Given the description of an element on the screen output the (x, y) to click on. 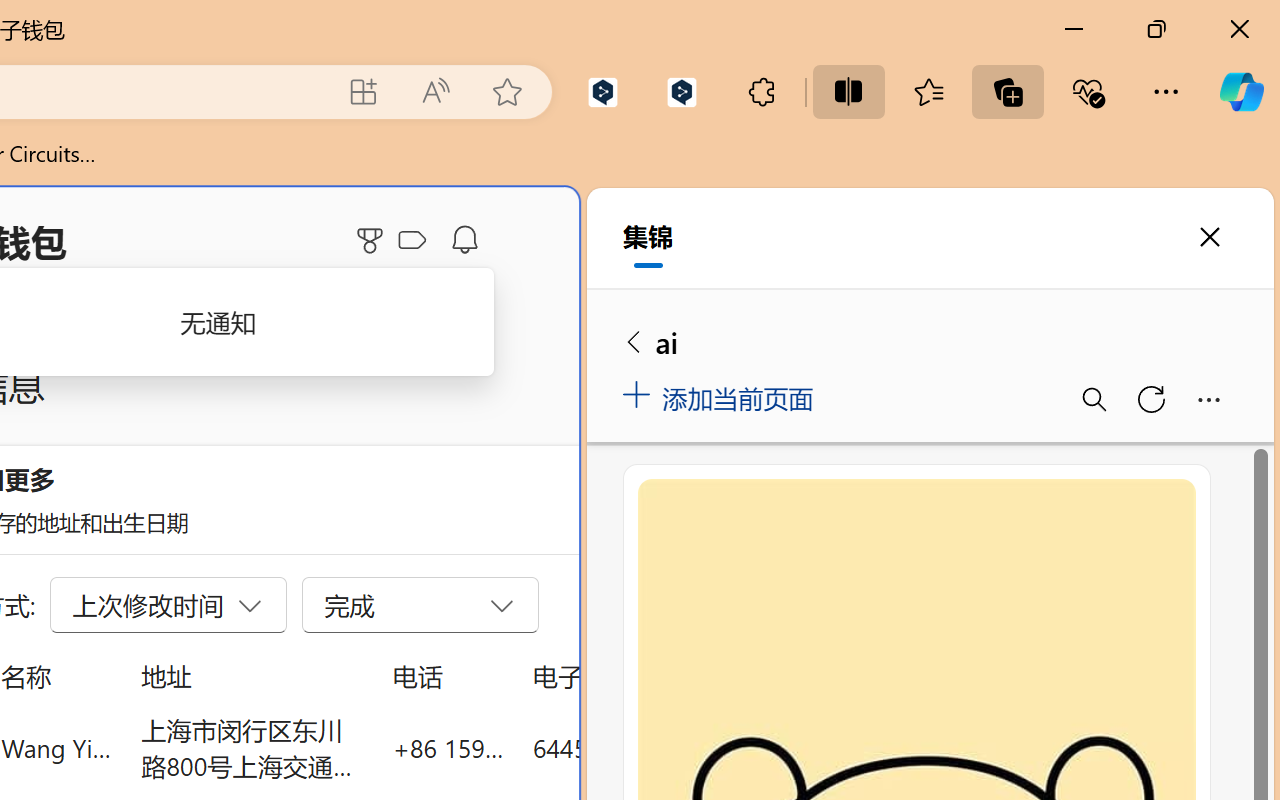
Copilot (Ctrl+Shift+.) (1241, 91)
